Given the description of an element on the screen output the (x, y) to click on. 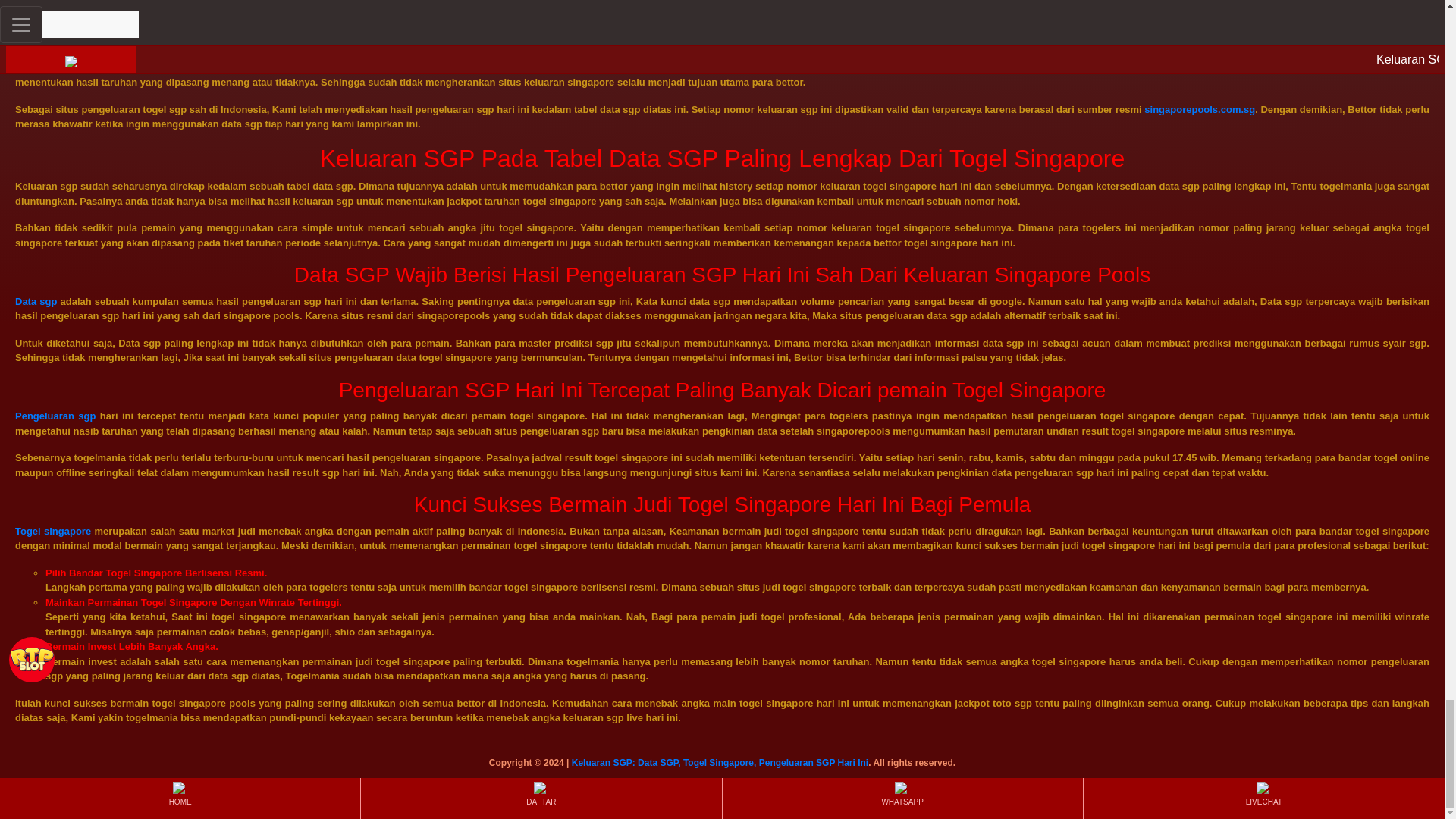
singaporepools.com.sg (1199, 109)
Togel singapore (52, 531)
Data sgp (35, 301)
Keluaran sgp (46, 67)
Pengeluaran sgp (55, 415)
